Given the description of an element on the screen output the (x, y) to click on. 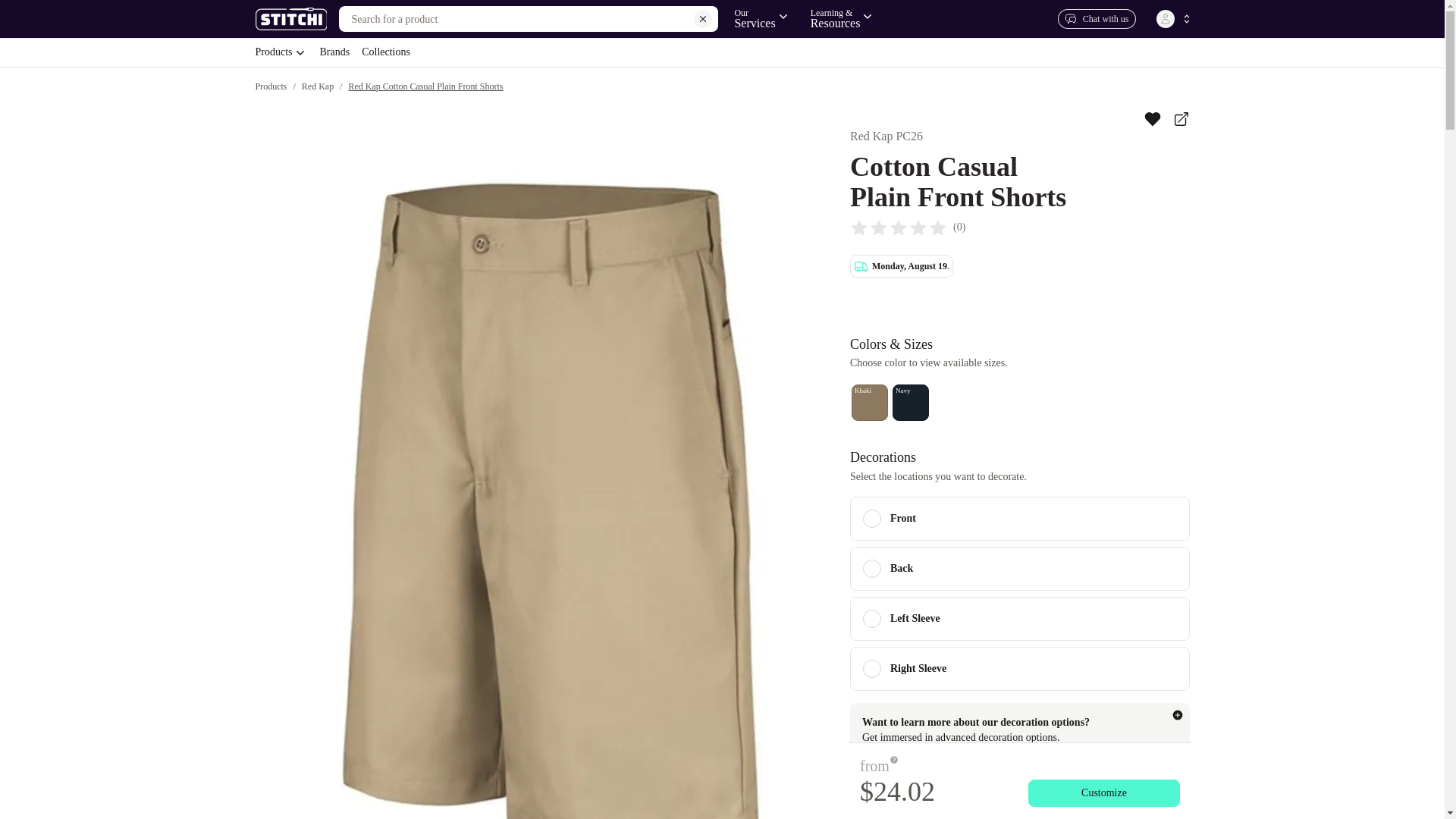
checked (871, 618)
checked (871, 568)
Products (721, 52)
checked (280, 52)
checked (871, 669)
Chat with us (871, 518)
